Given the description of an element on the screen output the (x, y) to click on. 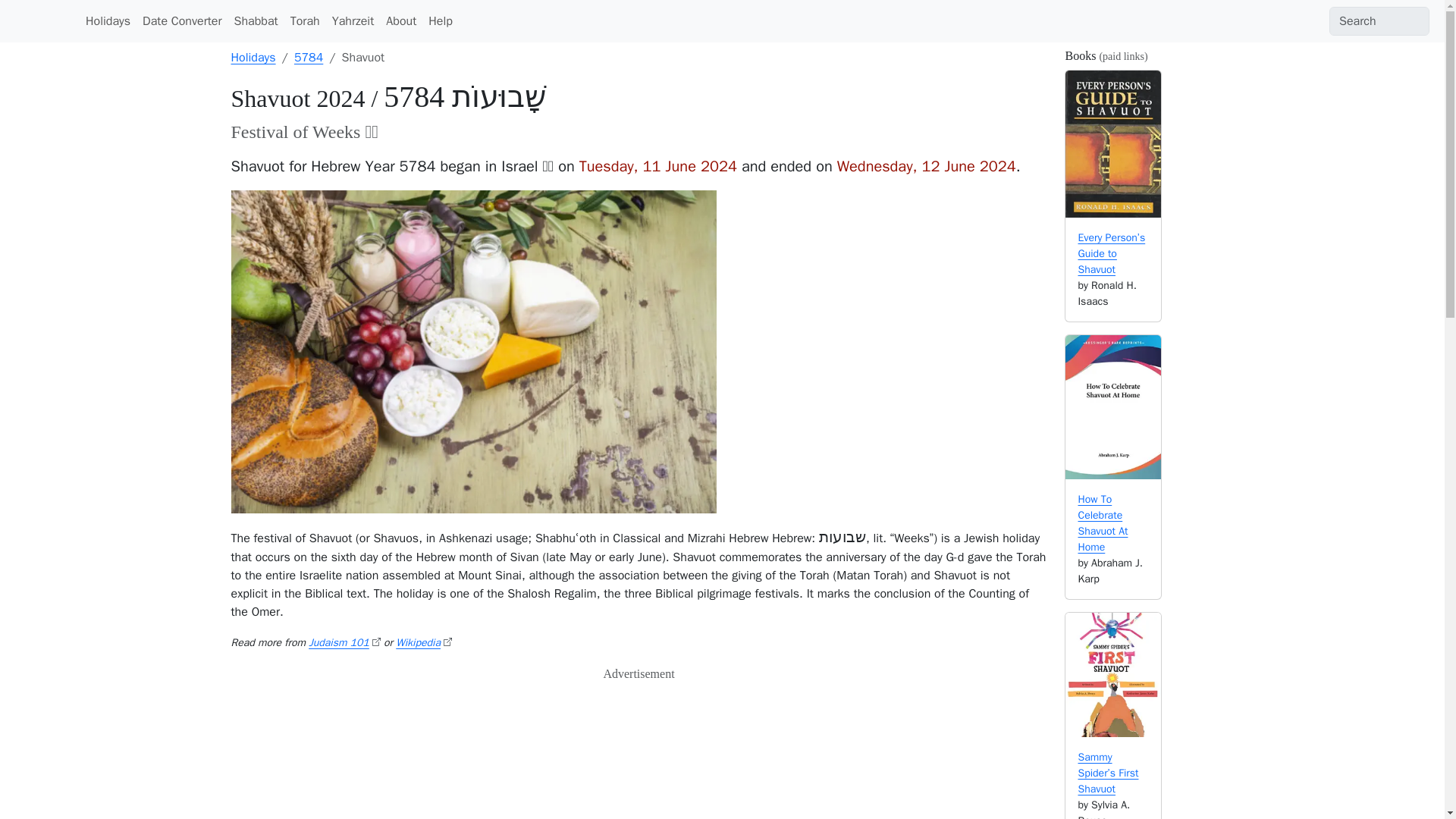
Date Converter (181, 20)
Help (440, 20)
Jewish Holidays (108, 20)
Holidays (108, 20)
Holidays (252, 57)
5784 (308, 57)
Judaism 101 (344, 642)
Help (440, 20)
Hebrew Date Converter (181, 20)
Torah (304, 20)
